Given the description of an element on the screen output the (x, y) to click on. 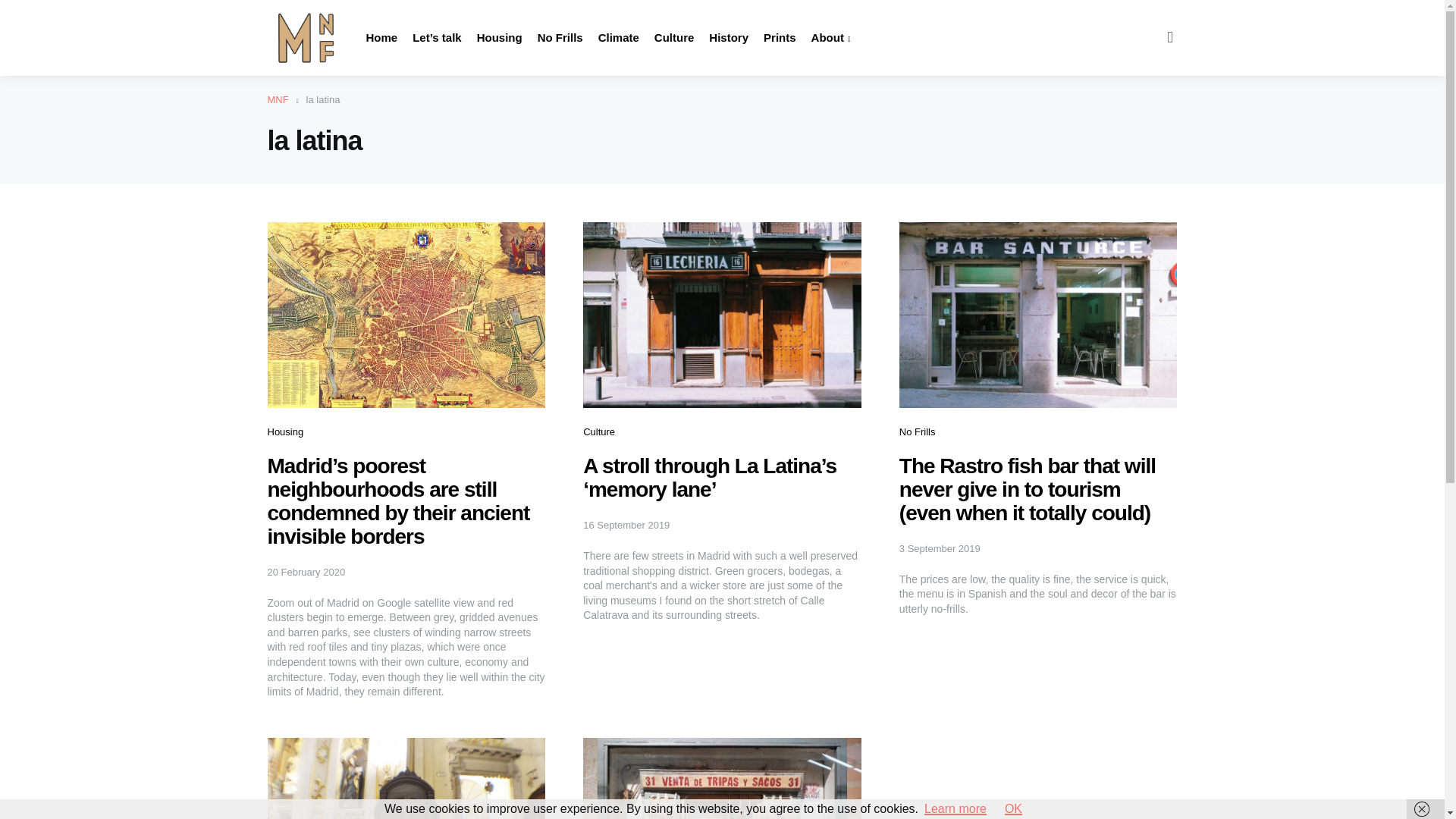
Prints (779, 37)
MNF (277, 99)
Housing (284, 431)
No Frills (560, 37)
Go to MNF. (277, 99)
Climate (618, 37)
Home (381, 37)
About (830, 37)
Housing (499, 37)
Culture (673, 37)
